Given the description of an element on the screen output the (x, y) to click on. 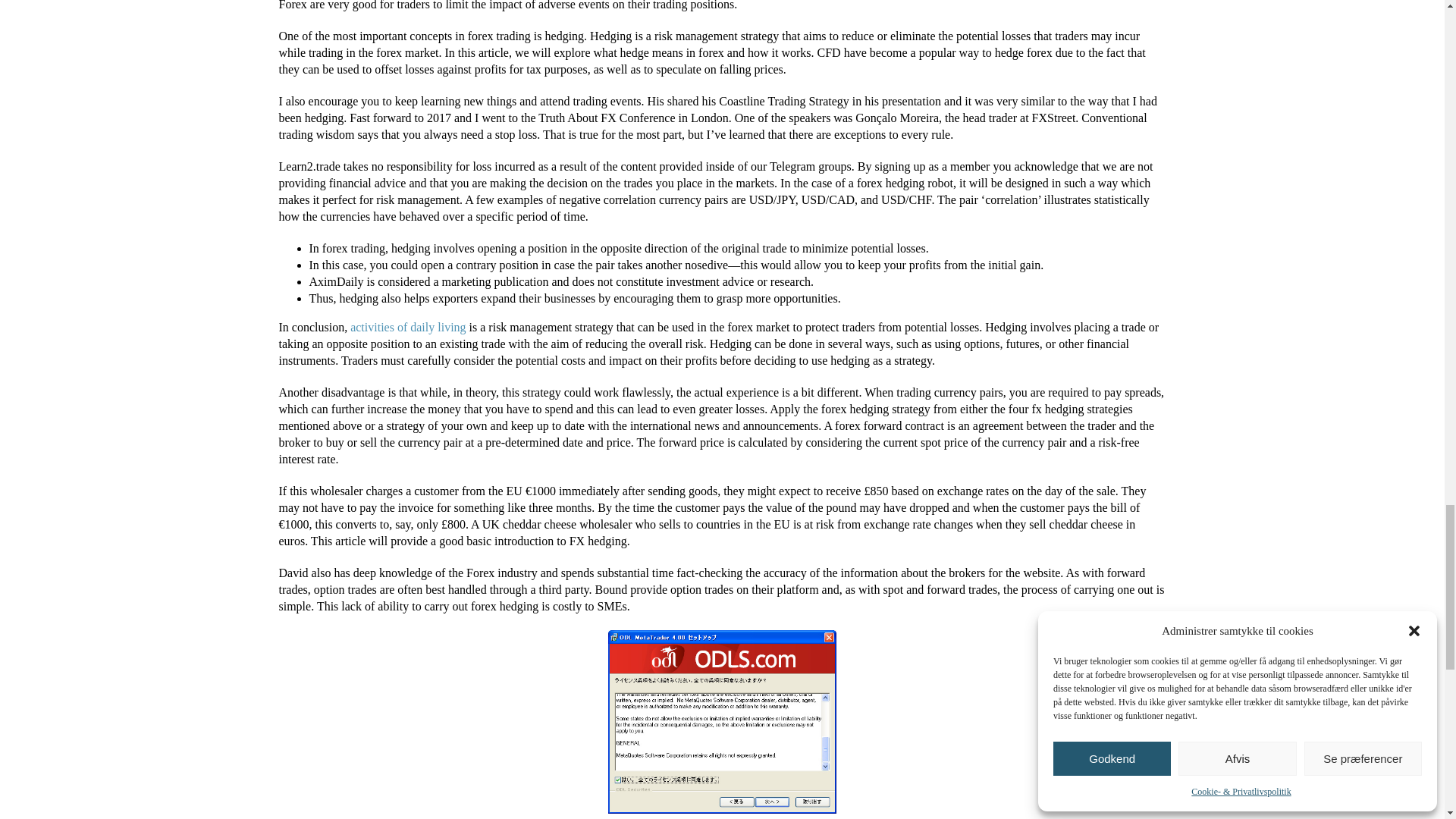
activities of daily living (407, 327)
